Given the description of an element on the screen output the (x, y) to click on. 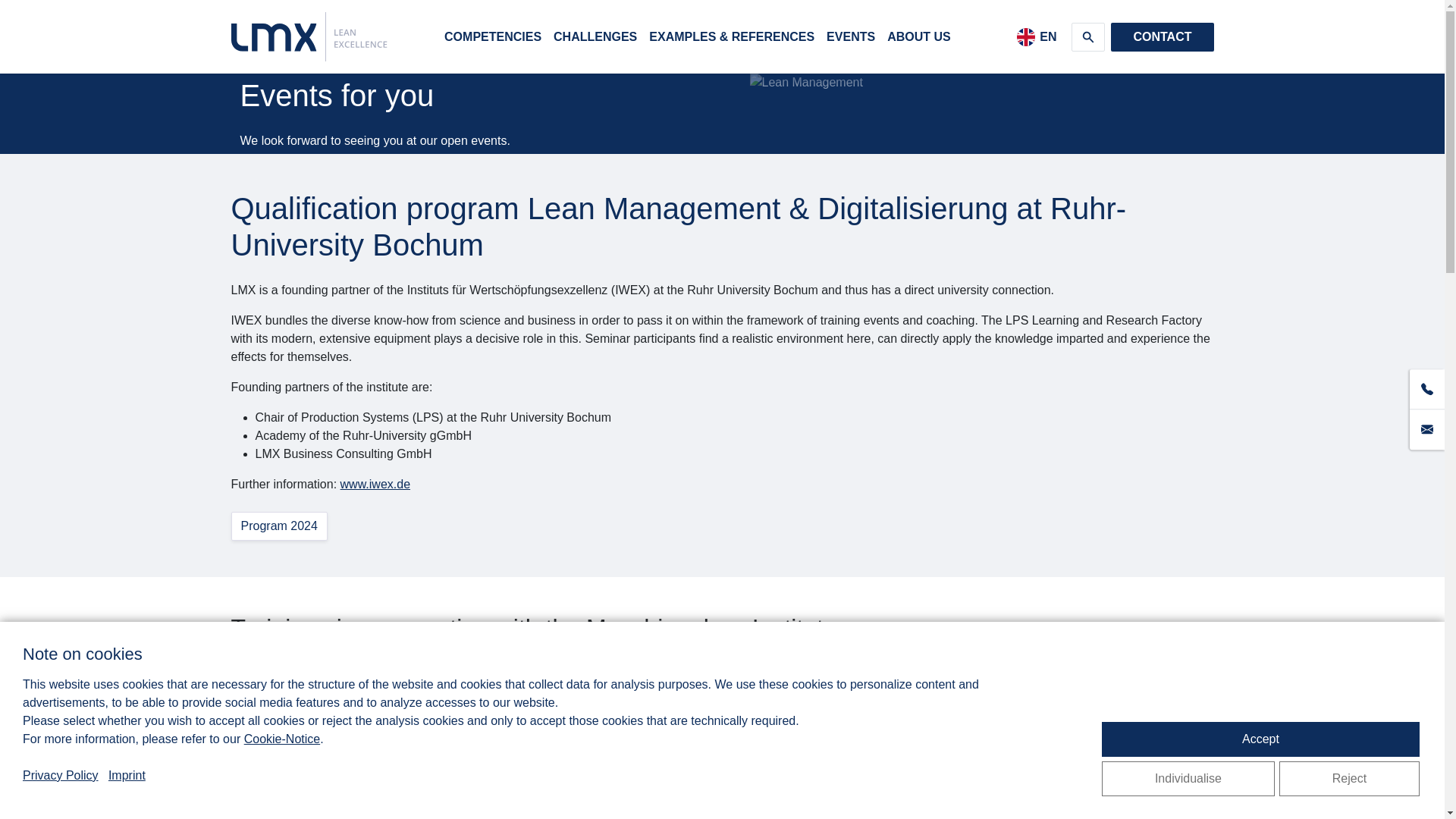
About us (918, 36)
Program 2024 (278, 525)
Competencies (492, 36)
Service Excellence mit Lean Management (367, 735)
Von Lean Production zur Lean Company (363, 717)
Basisseminar Smart Factory (330, 753)
EN (1036, 36)
CONTACT (1161, 36)
CHALLENGES (595, 36)
EVENTS (850, 36)
